Given the description of an element on the screen output the (x, y) to click on. 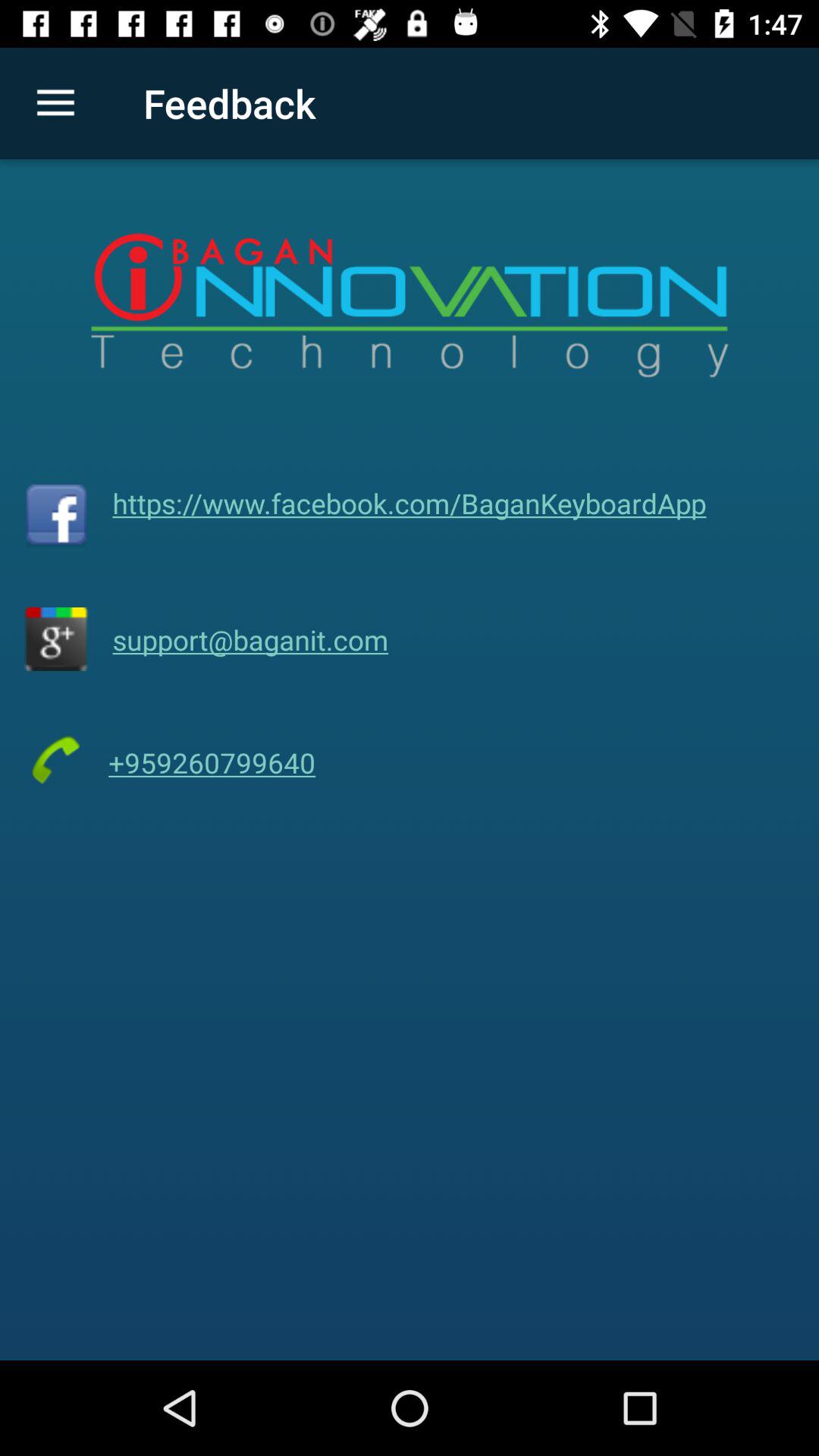
turn on the item above +959260799640 icon (250, 639)
